Given the description of an element on the screen output the (x, y) to click on. 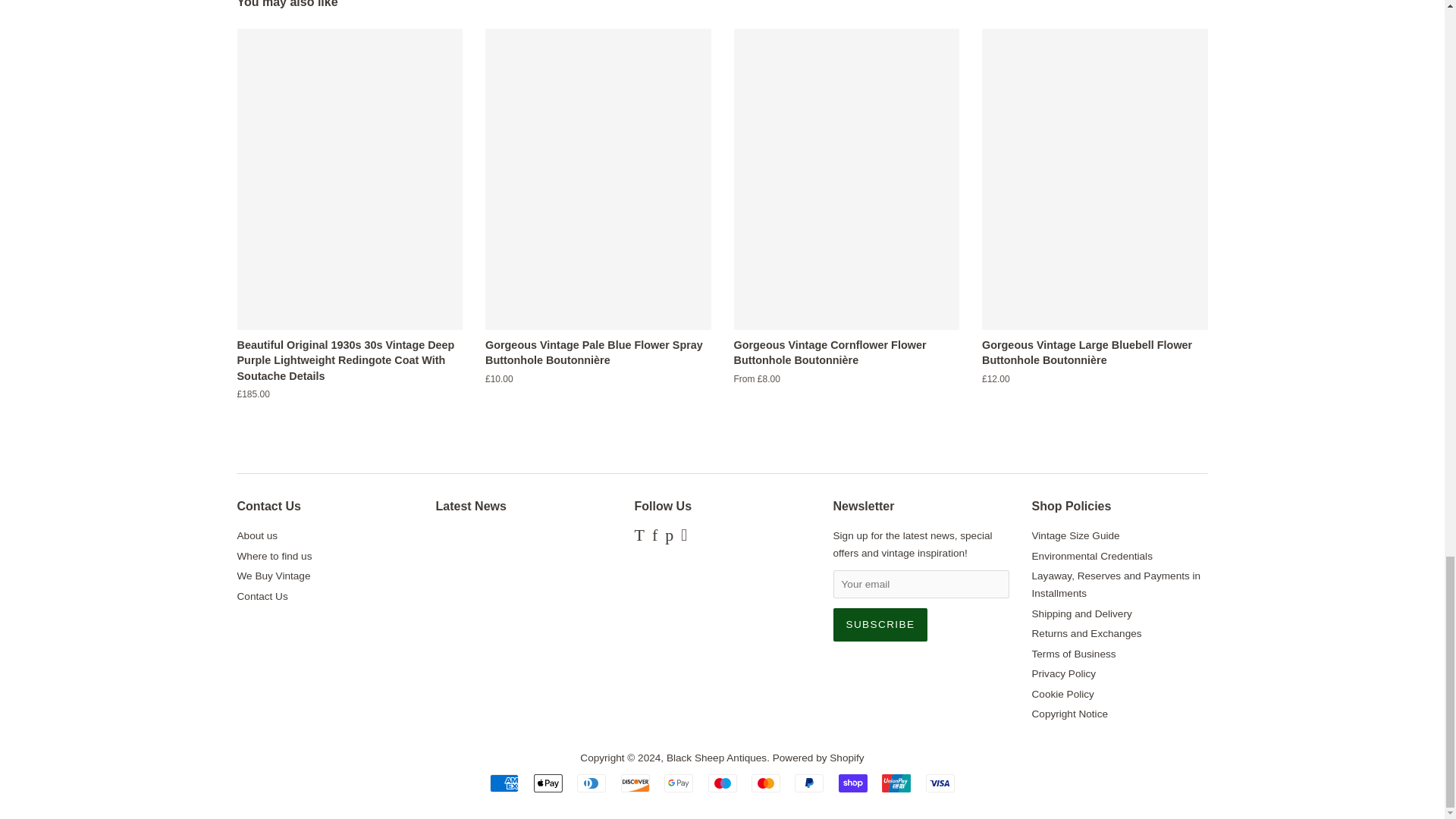
Discover (635, 782)
Union Pay (896, 782)
Subscribe (879, 624)
Diners Club (590, 782)
Mastercard (765, 782)
Apple Pay (548, 782)
Google Pay (678, 782)
PayPal (809, 782)
Visa (940, 782)
American Express (503, 782)
